Given the description of an element on the screen output the (x, y) to click on. 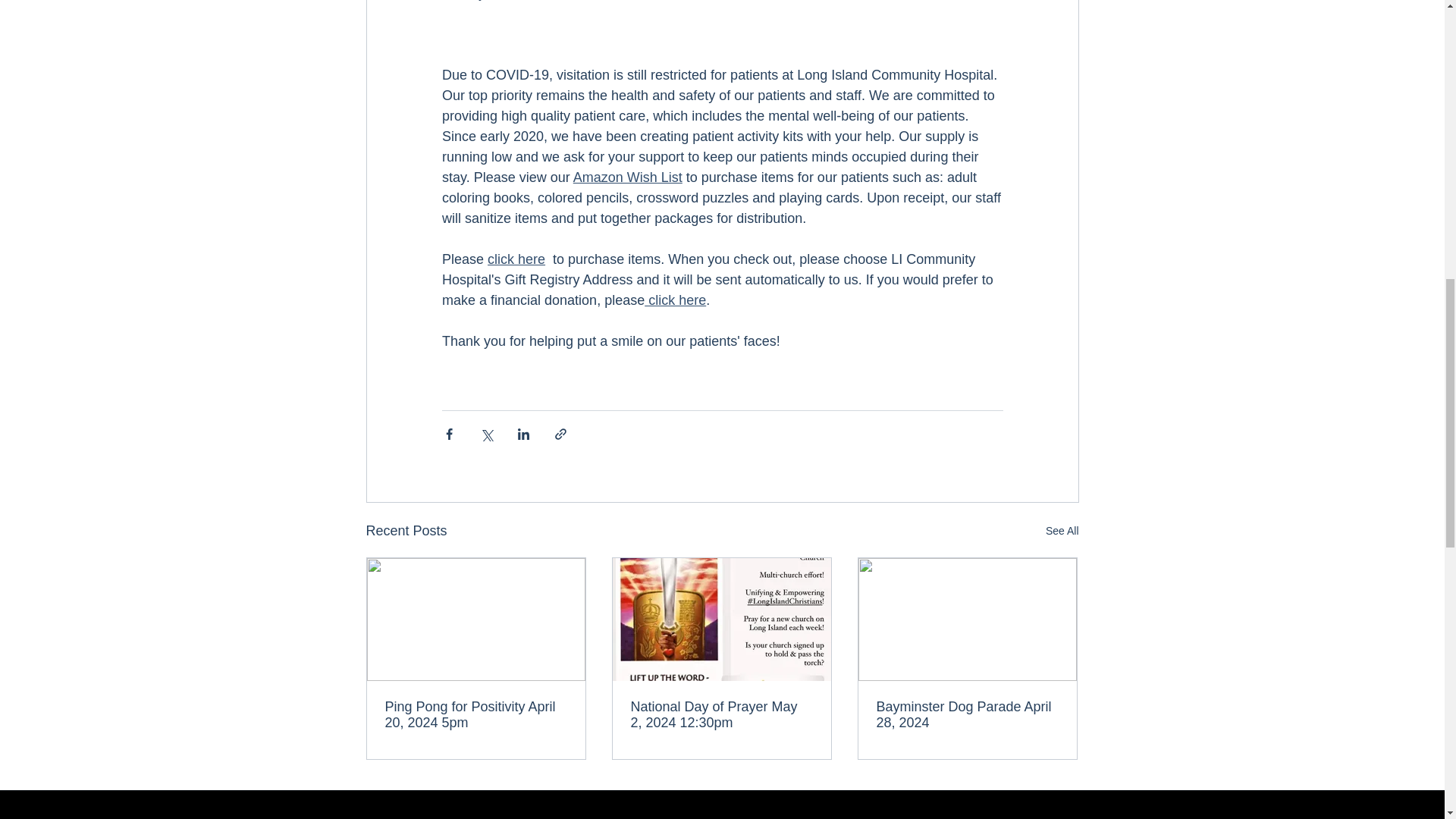
 click here (675, 299)
click here (515, 258)
Amazon Wish List (626, 177)
See All (1061, 531)
